Given the description of an element on the screen output the (x, y) to click on. 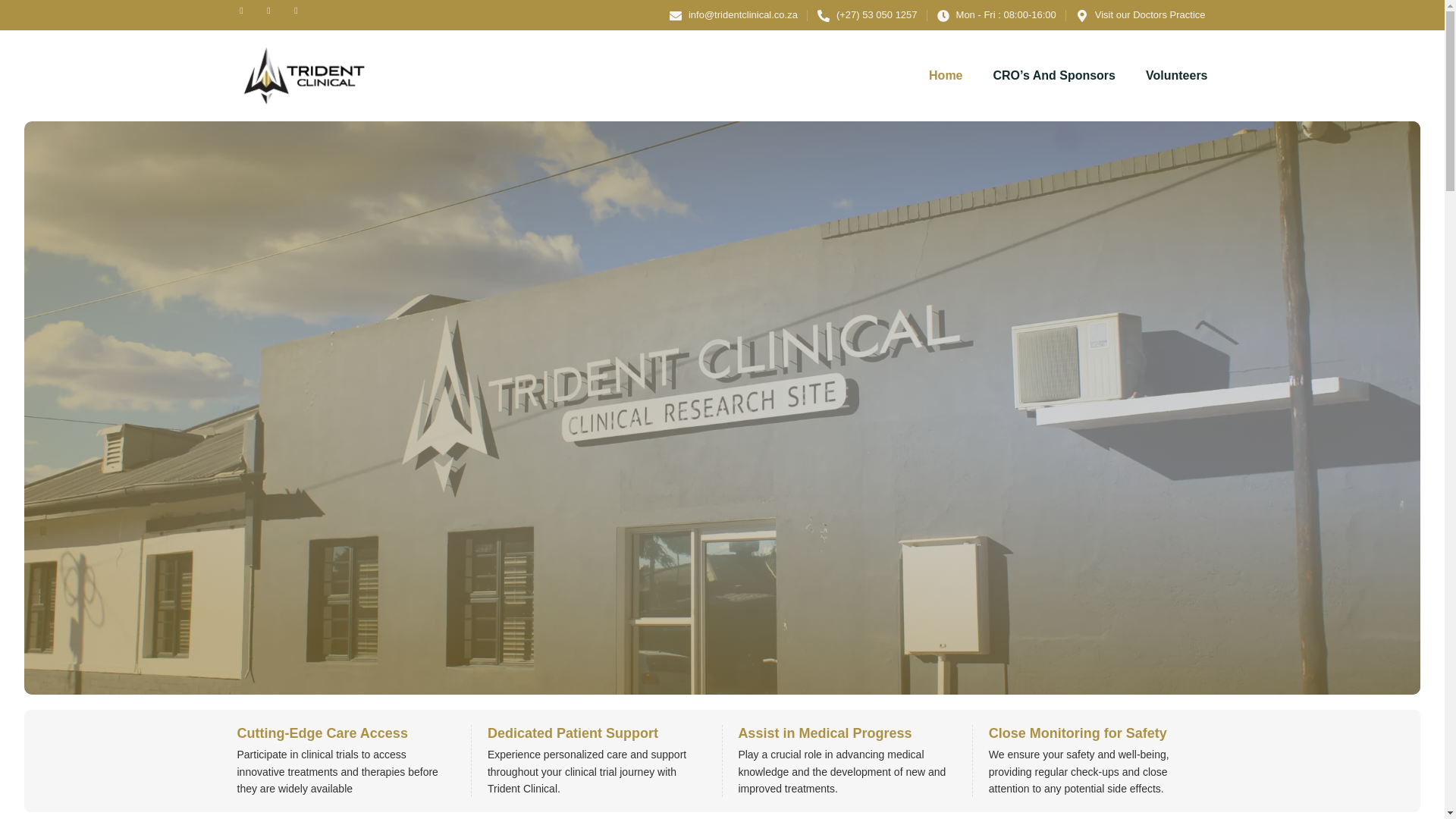
Visit our Doctors Practice (1140, 14)
Dedicated Patient Support (572, 733)
Close Monitoring for Safety (1077, 733)
Volunteers (1161, 75)
Home (930, 75)
Assist in Medical Progress (824, 733)
Cutting-Edge Care Access (321, 733)
Mon - Fri : 08:00-16:00 (997, 14)
